Given the description of an element on the screen output the (x, y) to click on. 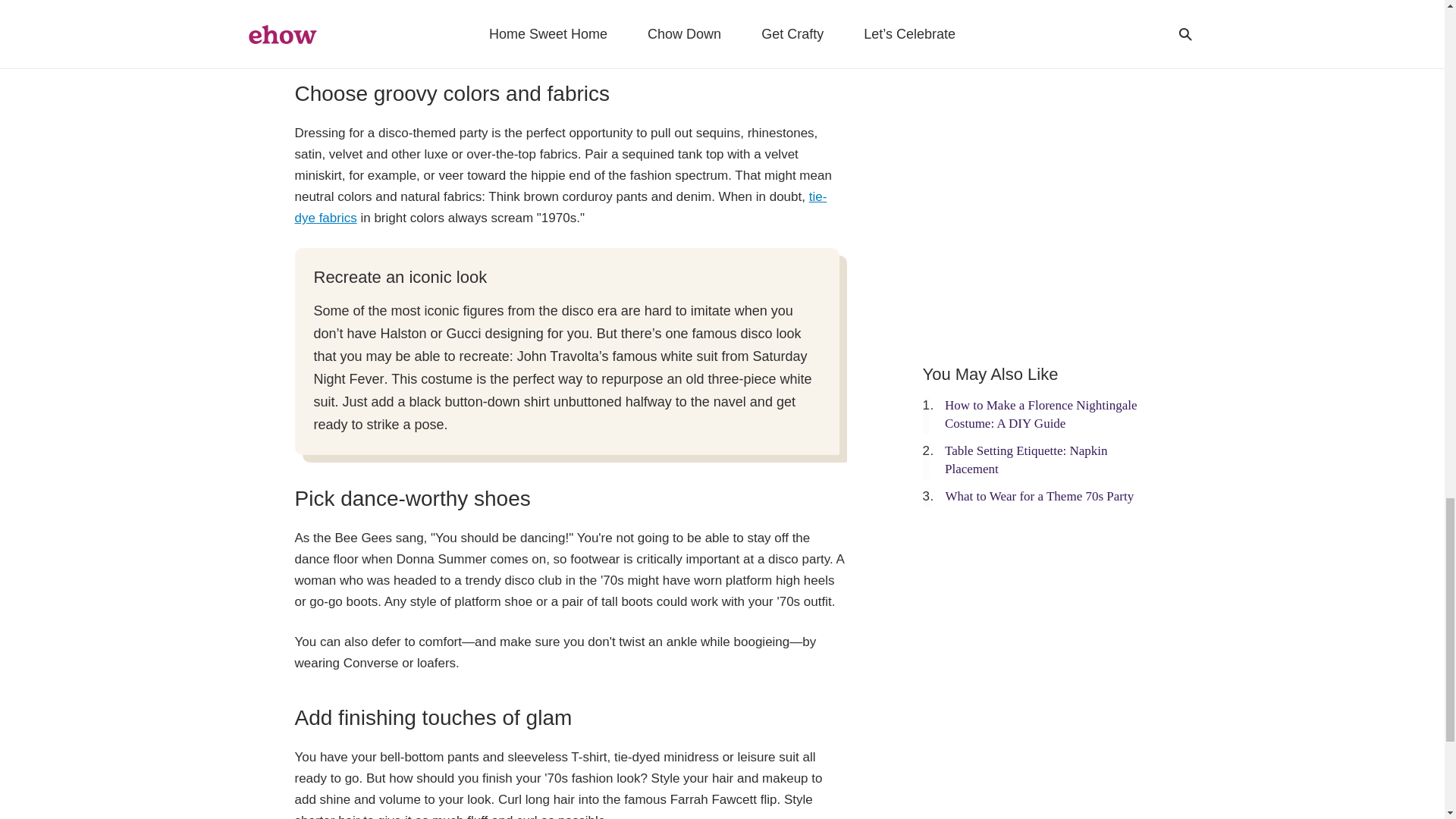
How to Make a Florence Nightingale Costume: A DIY Guide (1040, 414)
Table Setting Etiquette: Napkin Placement (1026, 459)
What to Wear for a Theme 70s Party (1039, 495)
